Given the description of an element on the screen output the (x, y) to click on. 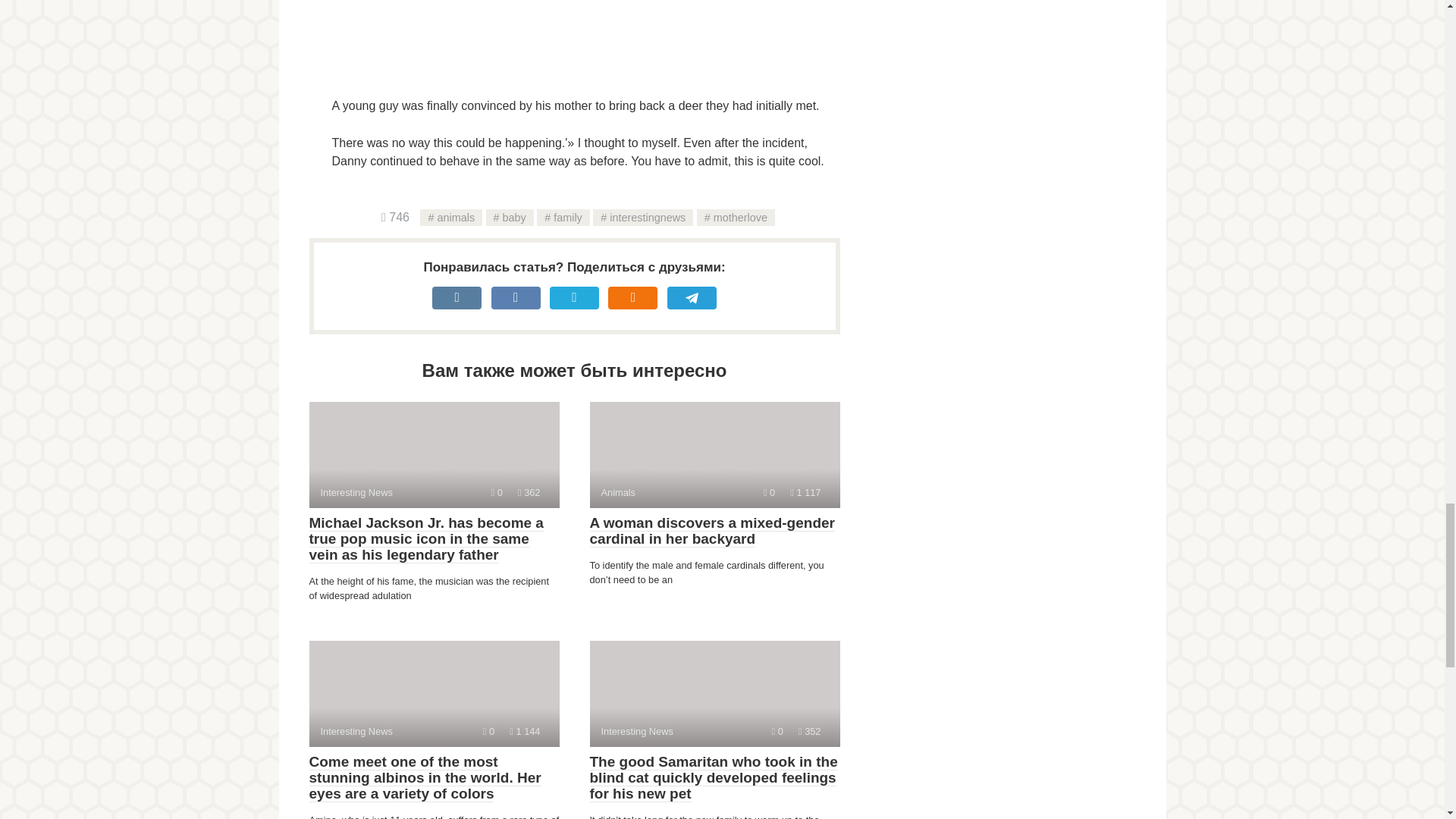
baby (510, 217)
animals (433, 693)
family (450, 217)
interestingnews (563, 217)
A woman discovers a mixed-gender cardinal in her backyard (642, 217)
motherlove (714, 693)
